Given the description of an element on the screen output the (x, y) to click on. 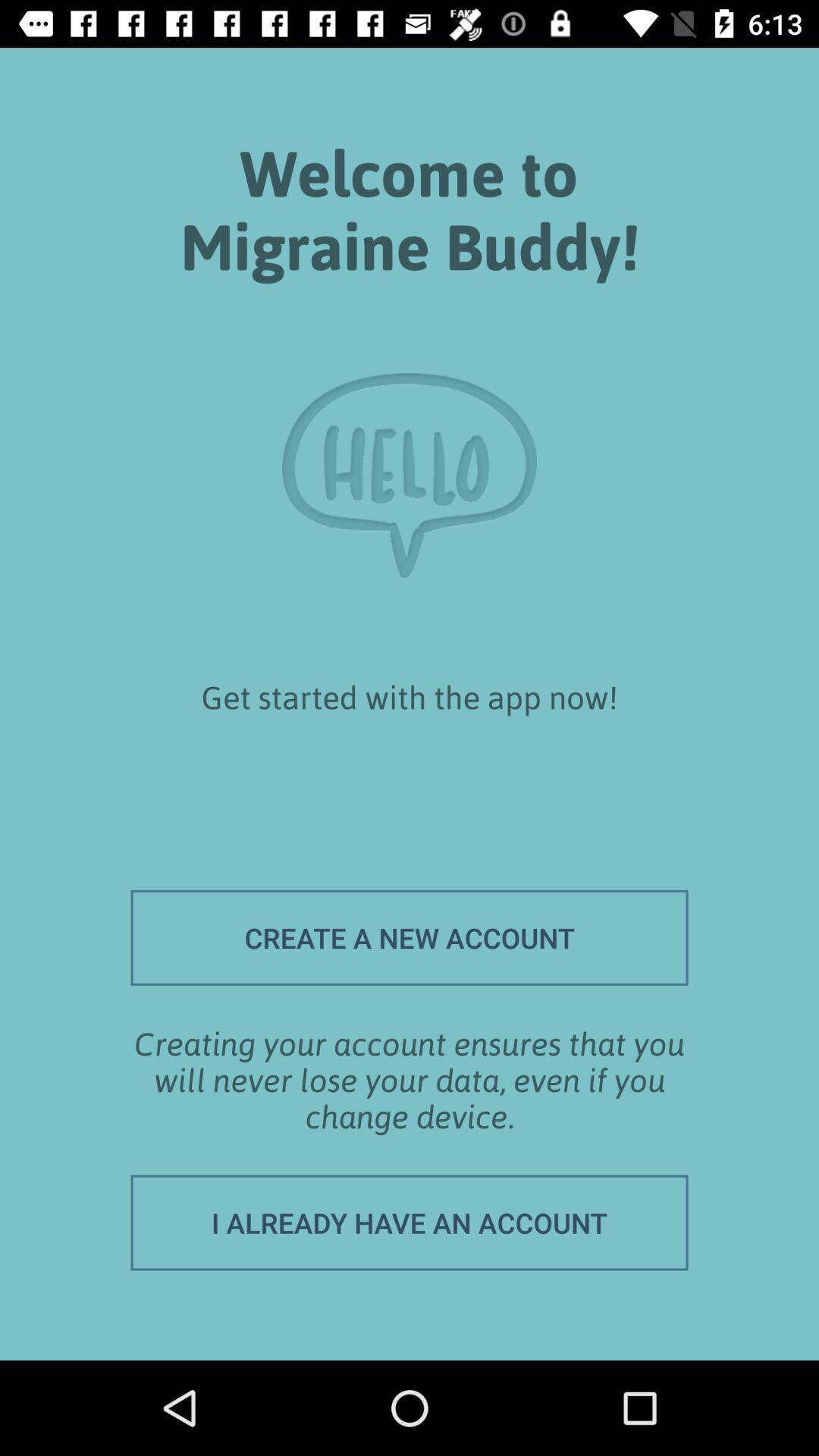
scroll until create a new (409, 937)
